Given the description of an element on the screen output the (x, y) to click on. 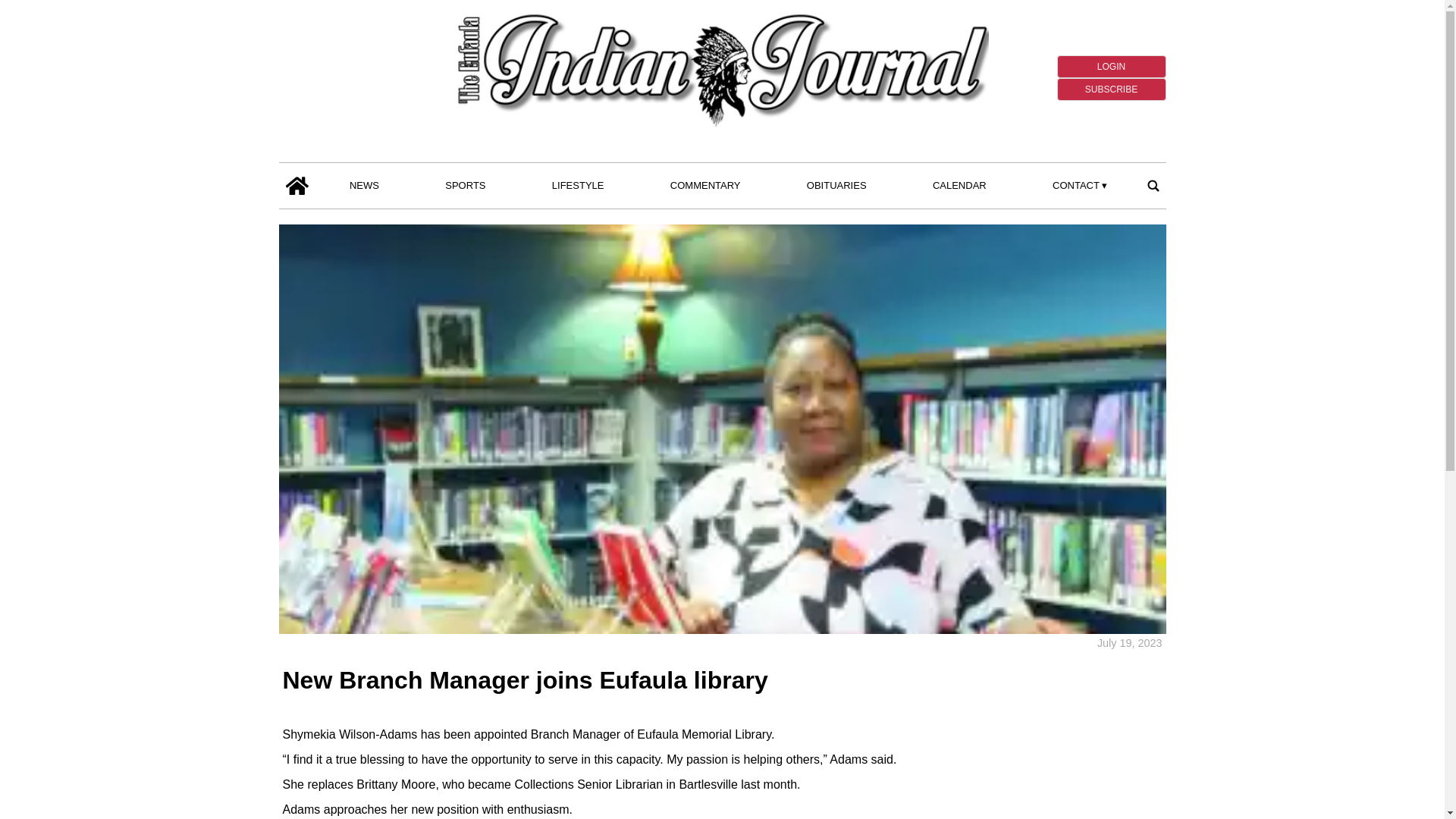
OBITUARIES (836, 185)
CALENDAR (959, 185)
SPORTS (465, 185)
NEWS (363, 185)
LOGIN (1111, 66)
CONTACT (1080, 185)
SUBSCRIBE (1111, 88)
COMMENTARY (705, 185)
LIFESTYLE (577, 185)
